Given the description of an element on the screen output the (x, y) to click on. 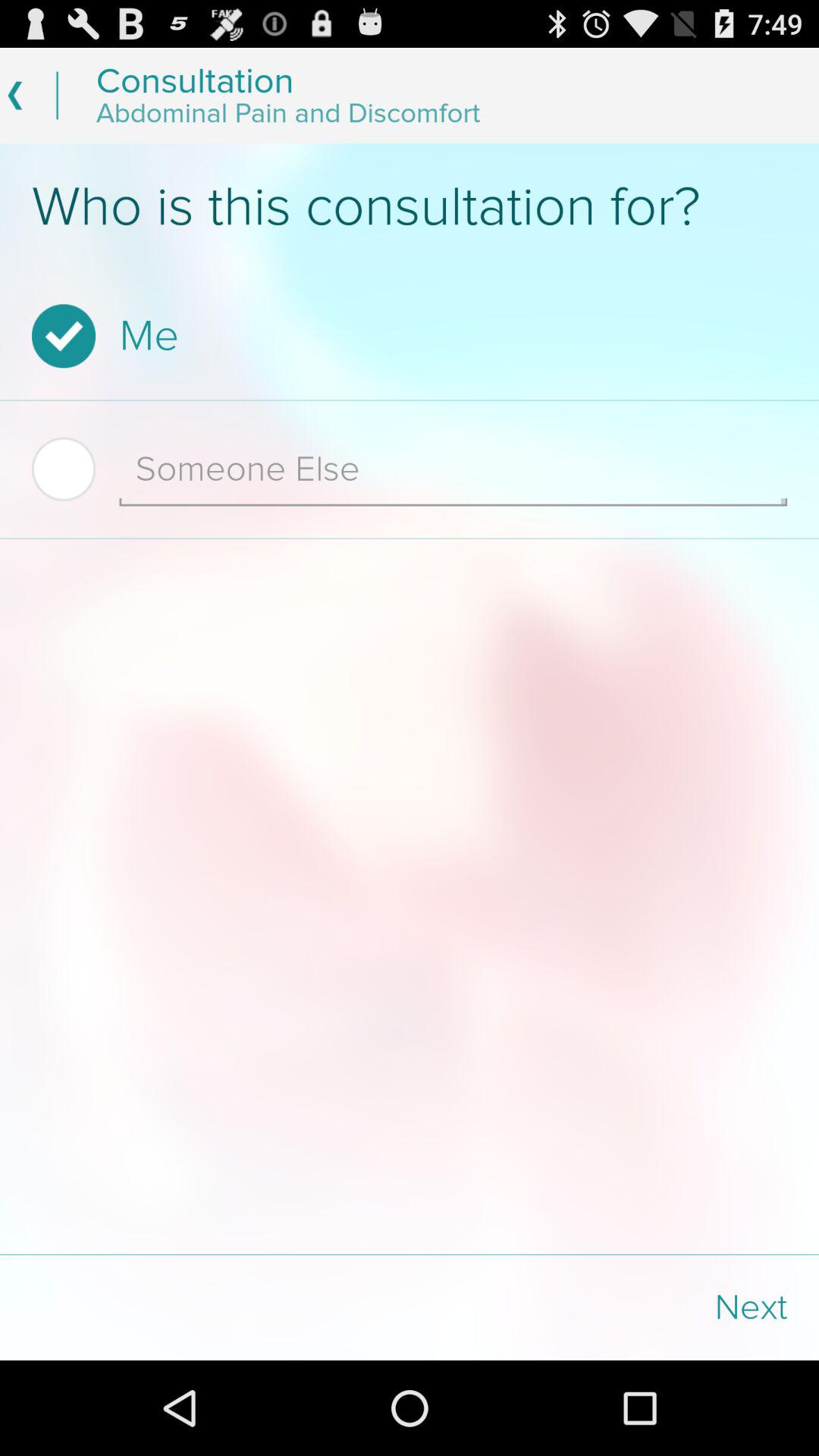
press the next icon (614, 1307)
